Given the description of an element on the screen output the (x, y) to click on. 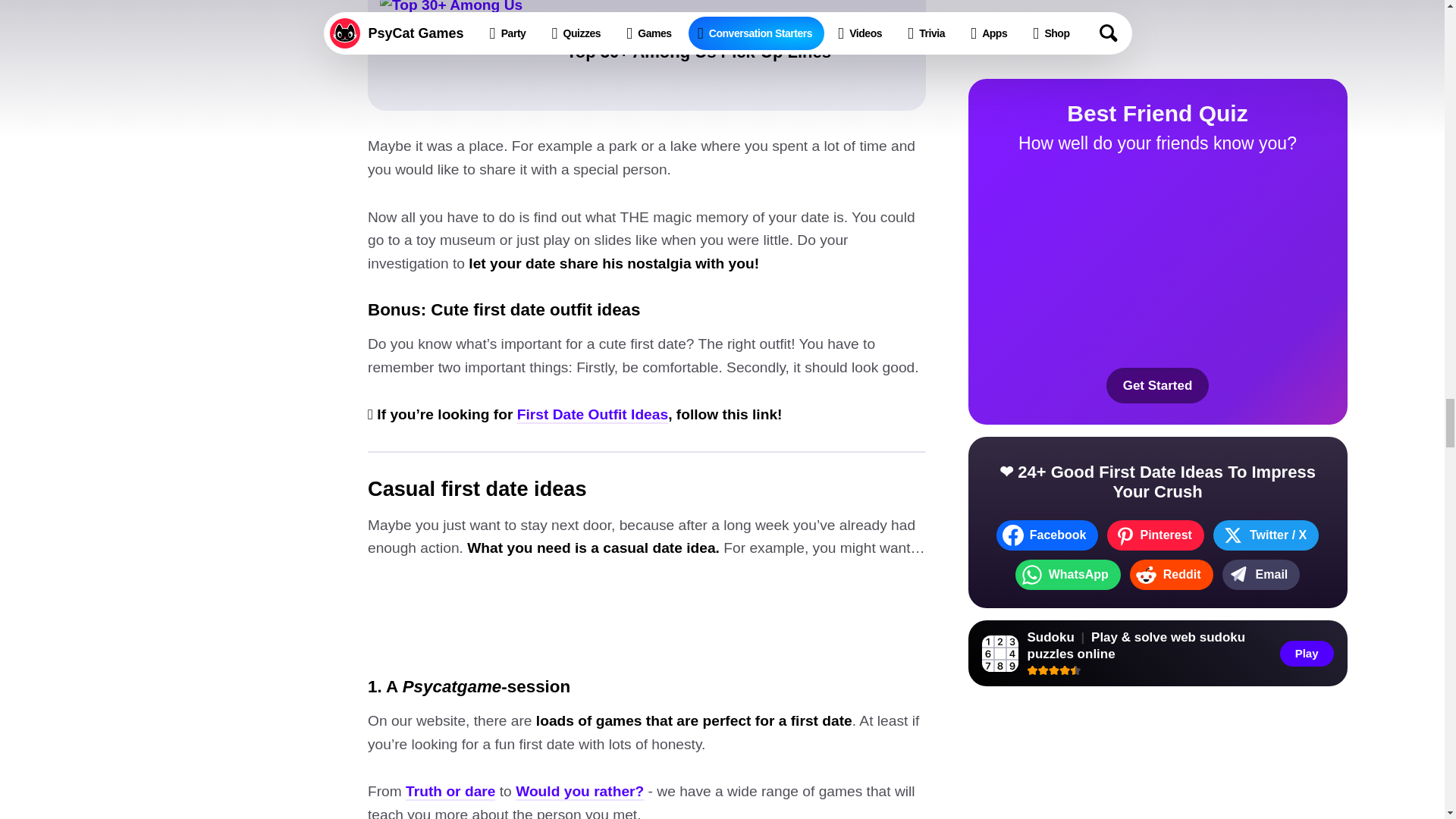
First Date Outfit Ideas (591, 415)
Would you rather? (579, 791)
Truth or dare (450, 791)
